Given the description of an element on the screen output the (x, y) to click on. 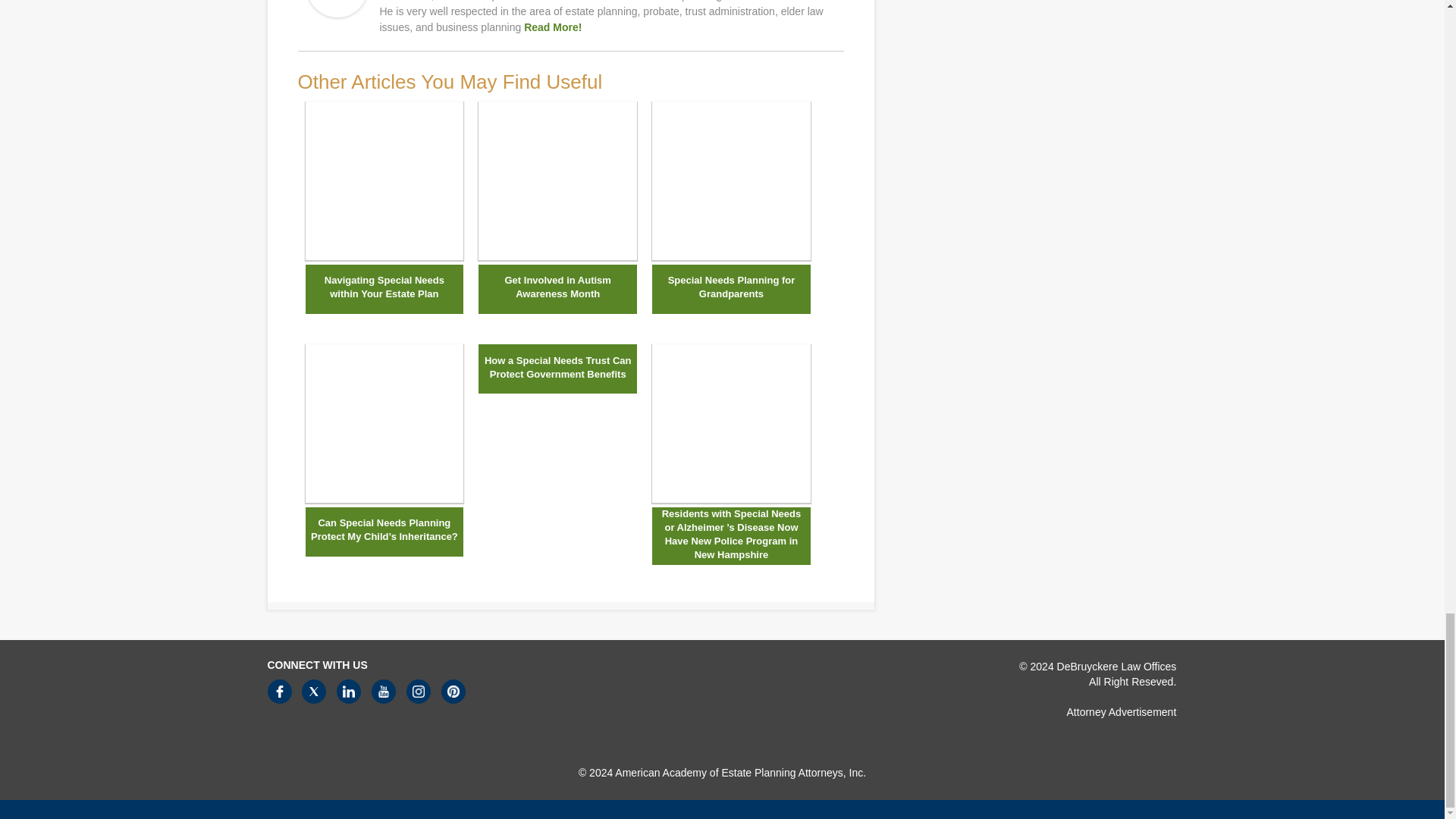
Navigating Special Needs within Your Estate Plan (384, 287)
Get Involved in Autism Awareness Month (558, 182)
Special Needs Planning for Grandparents (731, 256)
Daniel DeBruyckere (335, 13)
Get Involved in Autism Awareness Month (557, 287)
Special Needs Planning for Grandparents (731, 287)
How a Special Needs Trust Can Protect Government Benefits (557, 367)
Navigating Special Needs within Your Estate Plan (383, 182)
